Given the description of an element on the screen output the (x, y) to click on. 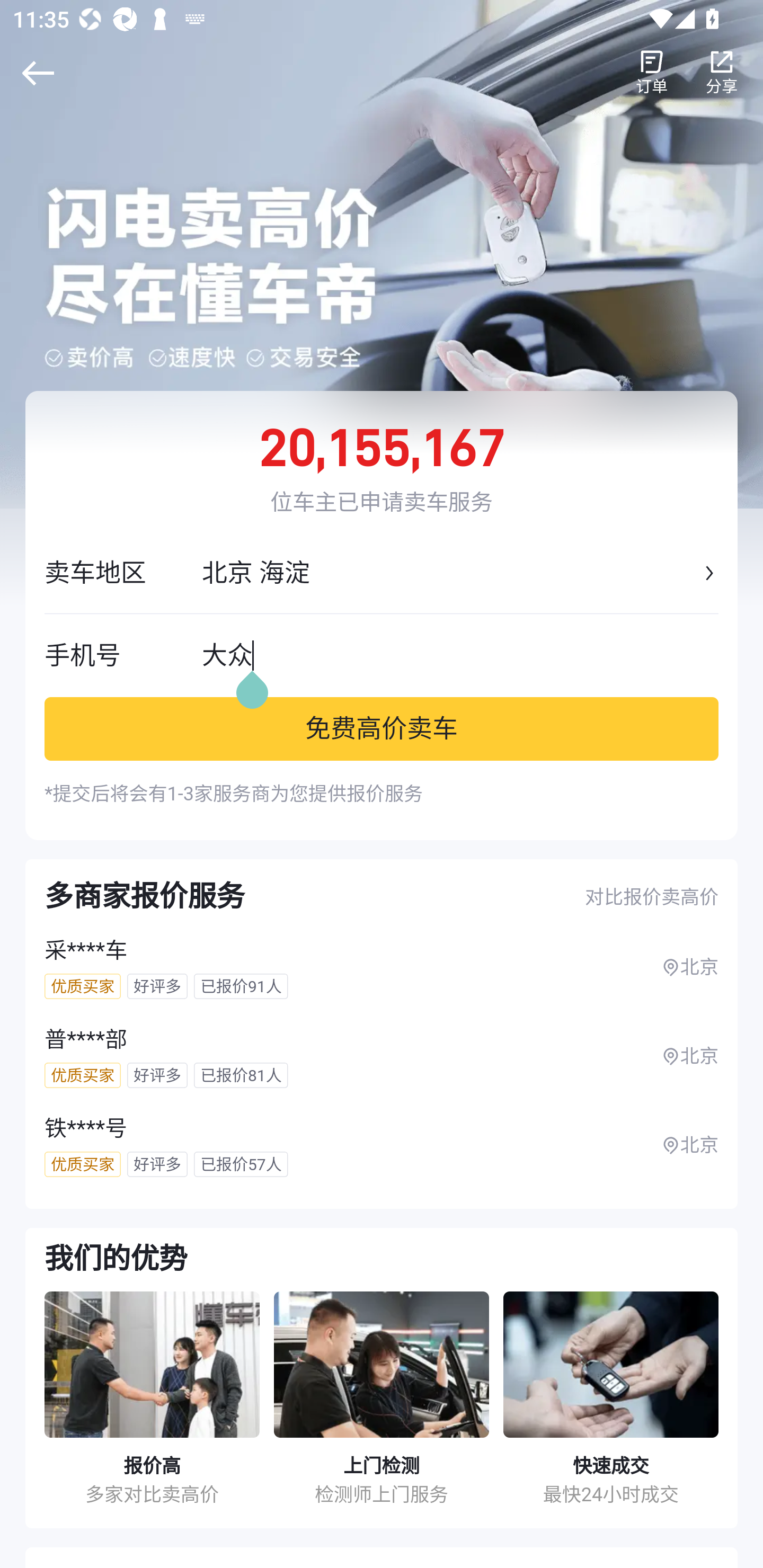
订单 (651, 72)
分享 (721, 72)
北京 海淀 (450, 572)
大众 (460, 655)
免费高价卖车 (381, 728)
